Given the description of an element on the screen output the (x, y) to click on. 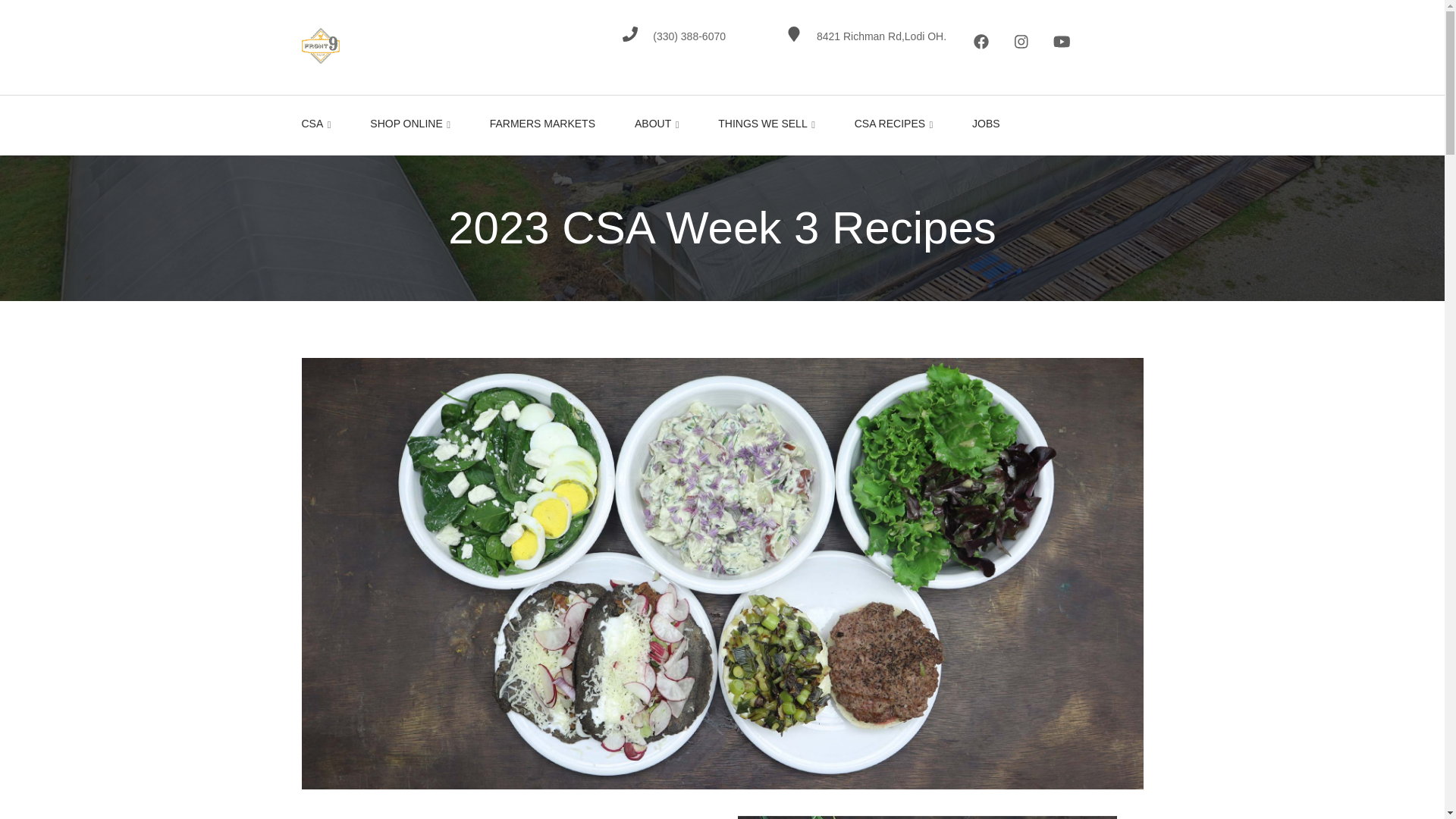
information about our csa program (320, 125)
recipes for each week of our csa program (893, 125)
information about the farmers markets that we attend (541, 125)
Home (320, 44)
